Given the description of an element on the screen output the (x, y) to click on. 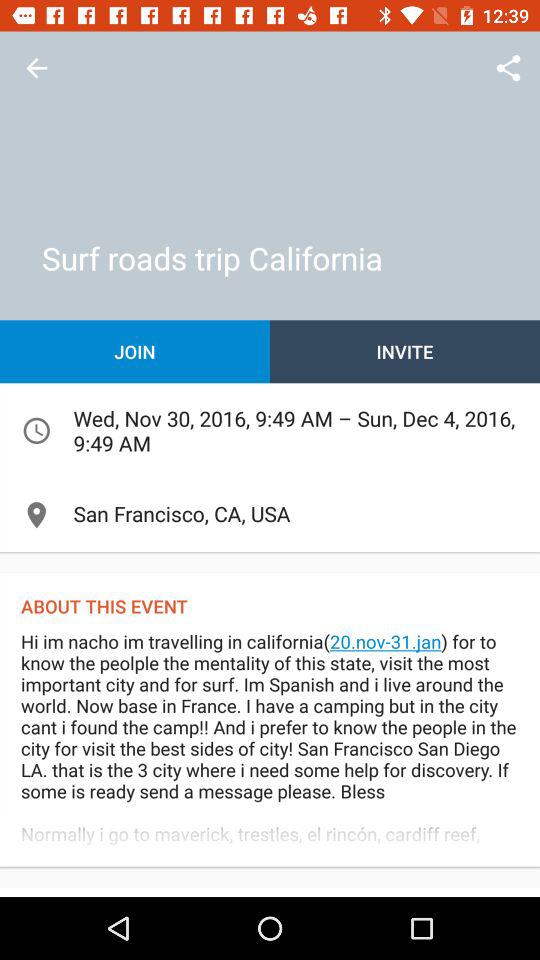
return to previous page (36, 68)
